Given the description of an element on the screen output the (x, y) to click on. 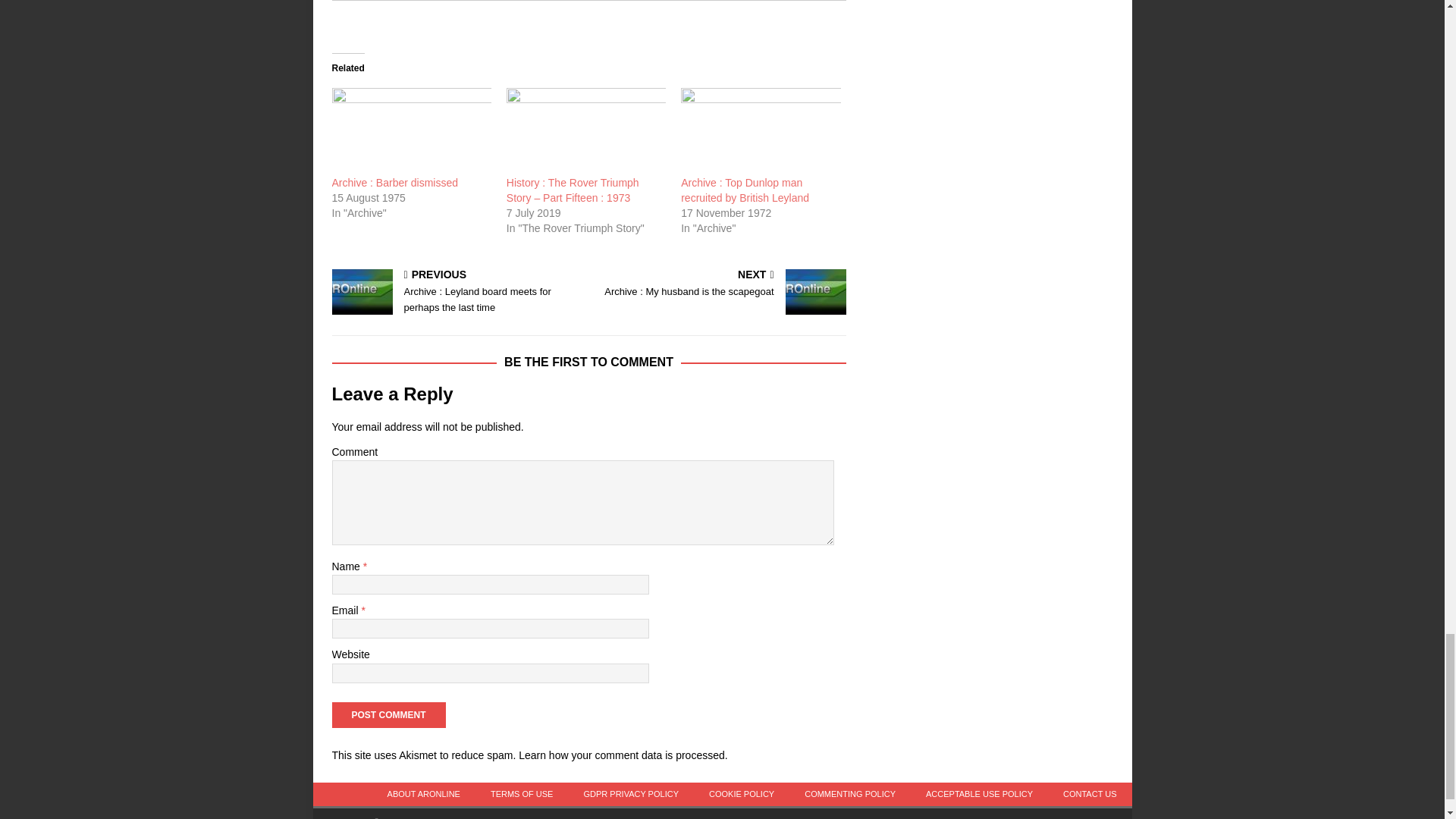
Post Comment (388, 714)
Archive : Barber dismissed (394, 182)
Archive : Top Dunlop man recruited by British Leyland (760, 129)
Archive : Barber dismissed (411, 129)
